Given the description of an element on the screen output the (x, y) to click on. 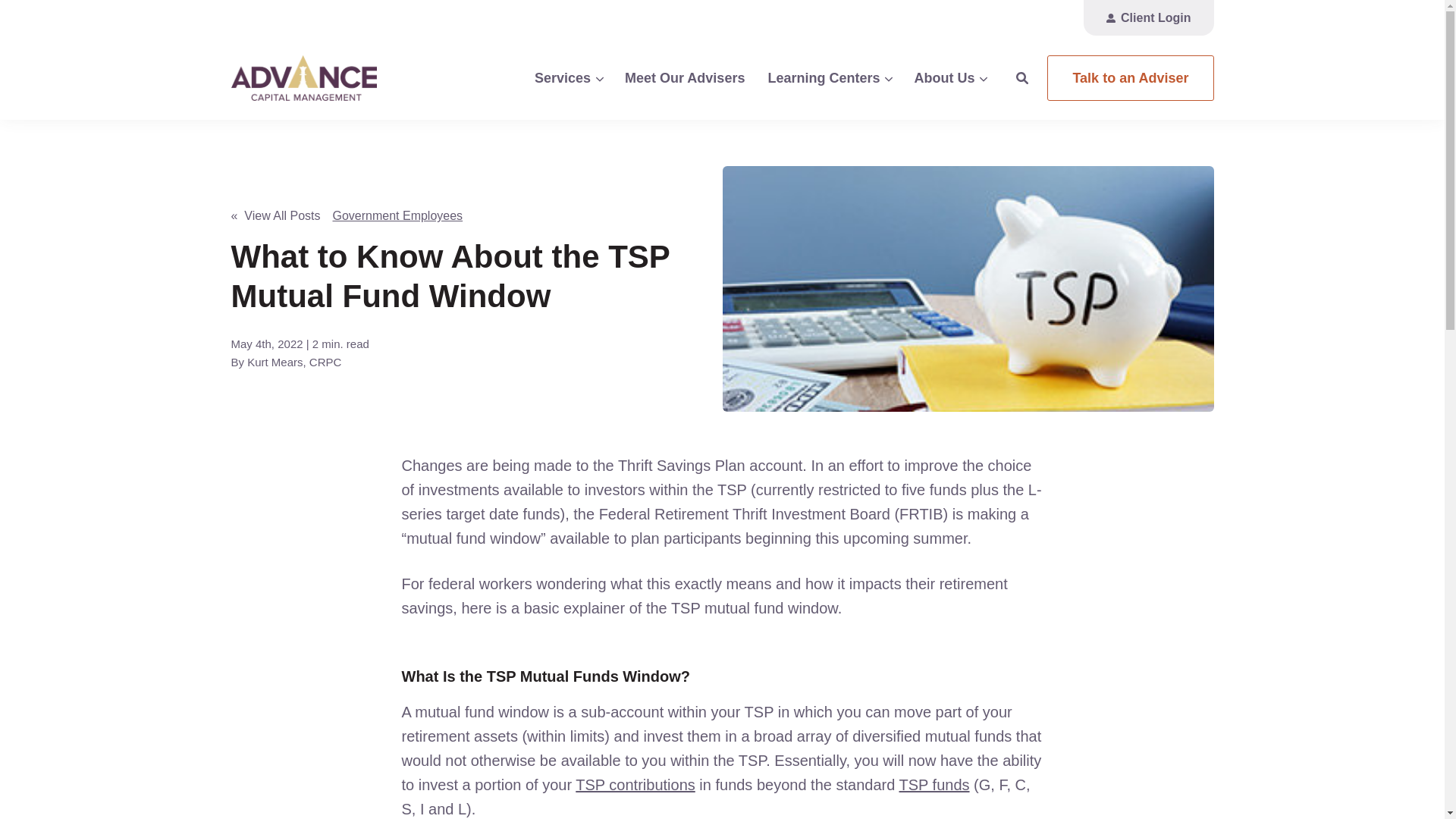
Open Search (1022, 78)
Advanced Capital Management (337, 77)
Kurt Mears, CRPC (293, 361)
Learning Centers (828, 77)
Government Employees (397, 215)
Open Search (1022, 78)
Talk to an Adviser (1129, 77)
Client Login (1148, 18)
Meet Our Advisers (683, 77)
